Given the description of an element on the screen output the (x, y) to click on. 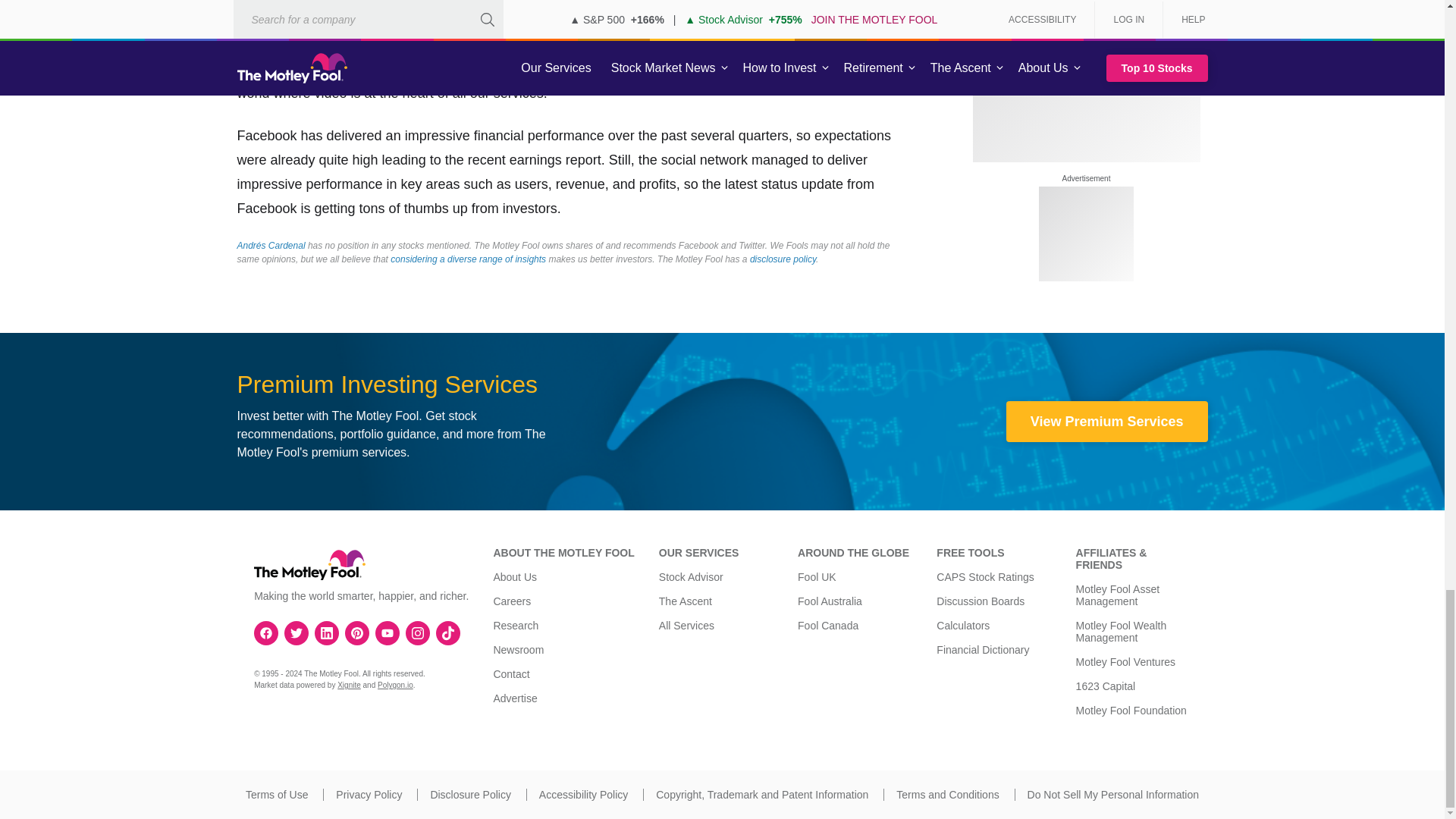
Accessibility Policy (582, 794)
Copyright, Trademark and Patent Information (761, 794)
Terms and Conditions (947, 794)
Privacy Policy (368, 794)
Terms of Use (276, 794)
Disclosure Policy (470, 794)
Do Not Sell My Personal Information. (1112, 794)
